Given the description of an element on the screen output the (x, y) to click on. 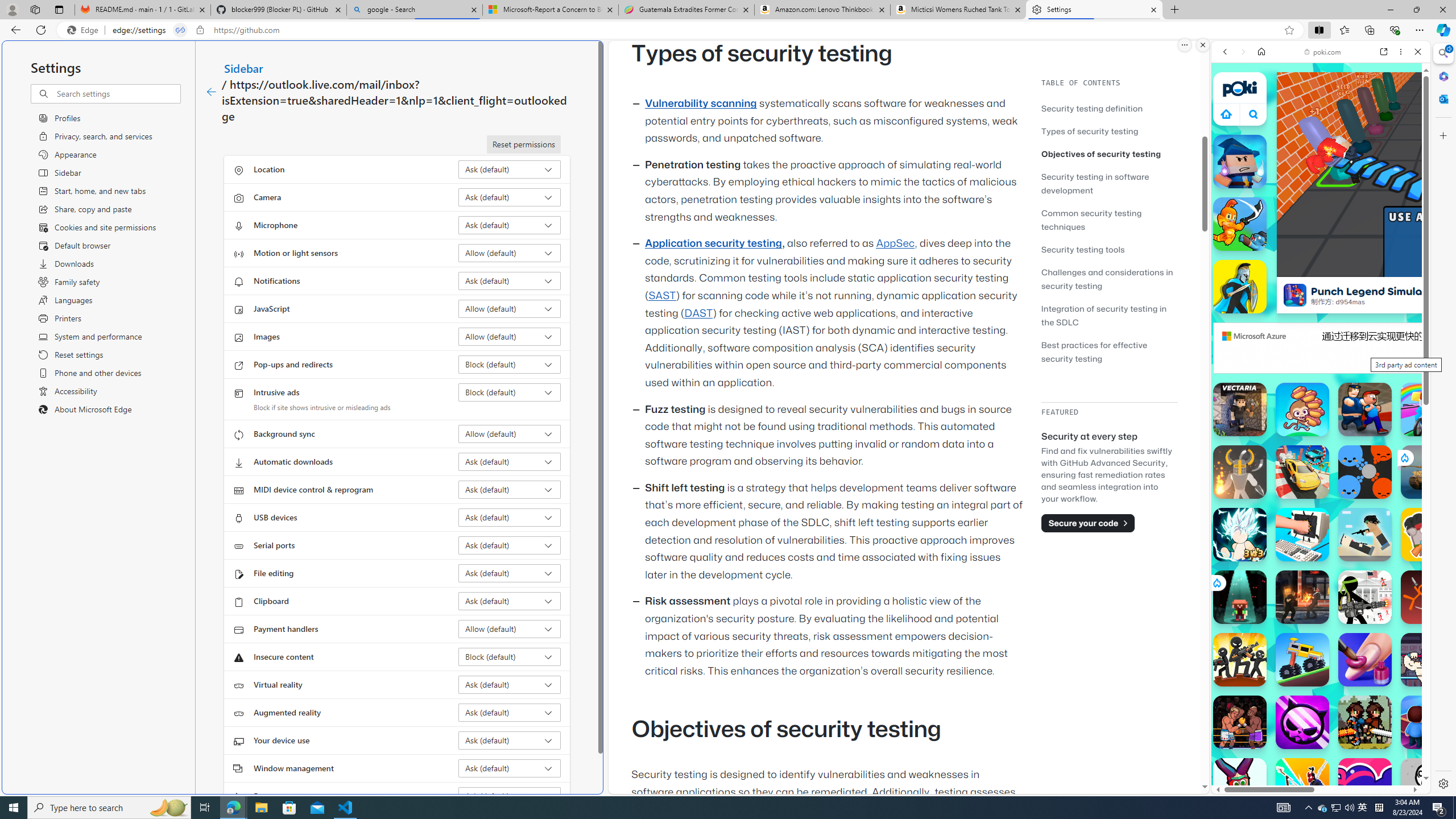
Sword Masters Sword Masters (1239, 223)
Objectives of security testing (1109, 153)
AppSec (895, 243)
Rowdy Wrestling Rowdy Wrestling (1427, 659)
Sports Games (1320, 378)
Background sync Allow (default) (509, 434)
Common security testing techniques (1109, 219)
Monkey Mart Monkey Mart (1302, 409)
Games for Girls (1320, 406)
Two Player Games (1320, 323)
MagicLand.io (1239, 161)
Window management Ask (default) (509, 768)
